Given the description of an element on the screen output the (x, y) to click on. 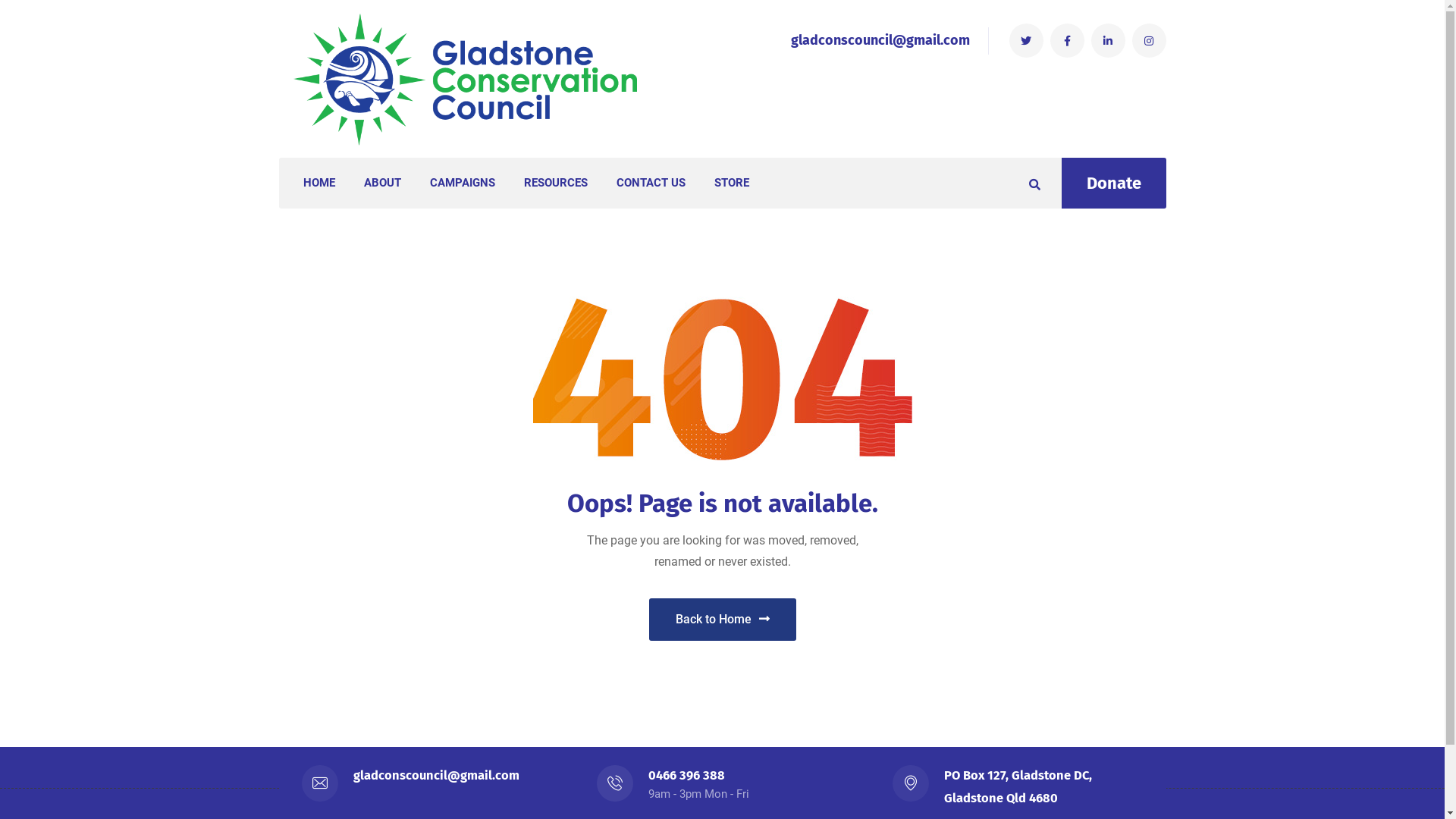
ABOUT Element type: text (382, 182)
Donate Element type: text (1113, 182)
gladconscouncil@gmail.com Element type: text (879, 39)
Back to Home Element type: text (722, 619)
RESOURCES Element type: text (554, 182)
CAMPAIGNS Element type: text (461, 182)
HOME Element type: text (319, 182)
CONTACT US Element type: text (649, 182)
Gladstone Conservation Council Element type: hover (468, 78)
gladconscouncil@gmail.com Element type: text (436, 775)
STORE Element type: text (731, 182)
